Given the description of an element on the screen output the (x, y) to click on. 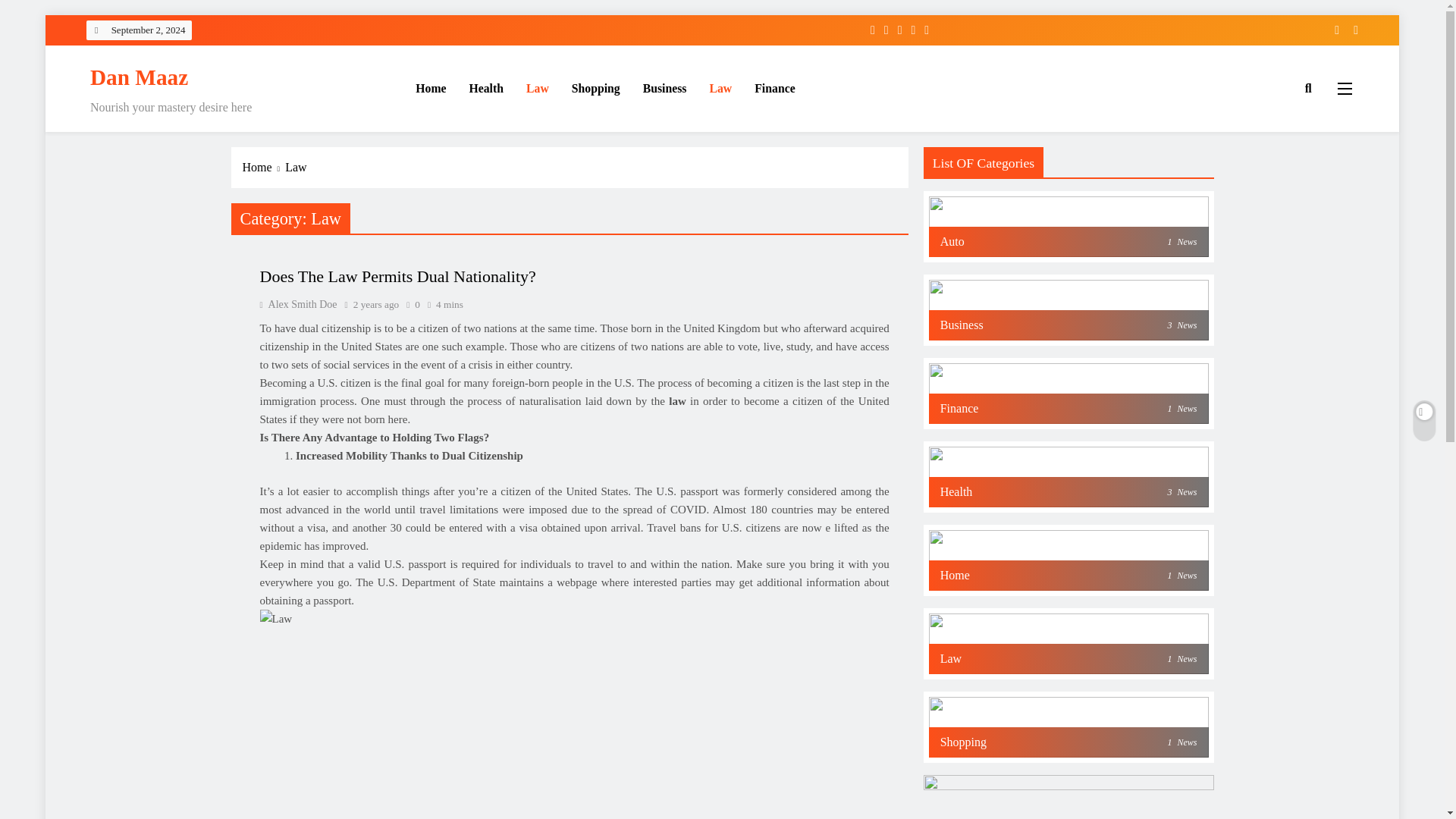
2 years ago (1068, 742)
Does The Law Permits Dual Nationality? (1068, 575)
Shopping (375, 304)
Home (397, 275)
Law (1068, 325)
Does The Law Permits Dual Nationality? (595, 87)
